Given the description of an element on the screen output the (x, y) to click on. 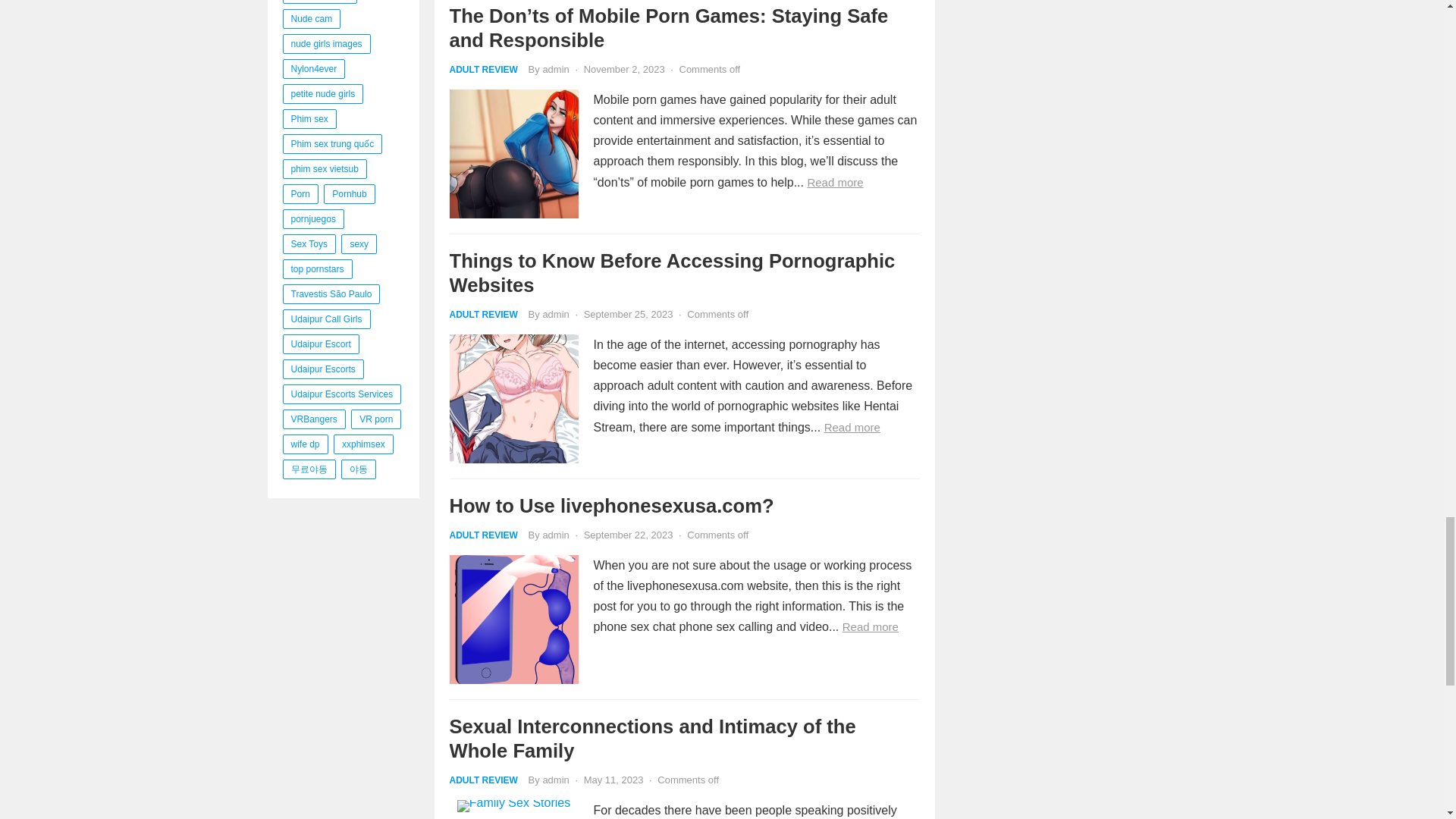
Posts by admin (555, 779)
Posts by admin (555, 69)
Posts by admin (555, 534)
Posts by admin (555, 314)
